Given the description of an element on the screen output the (x, y) to click on. 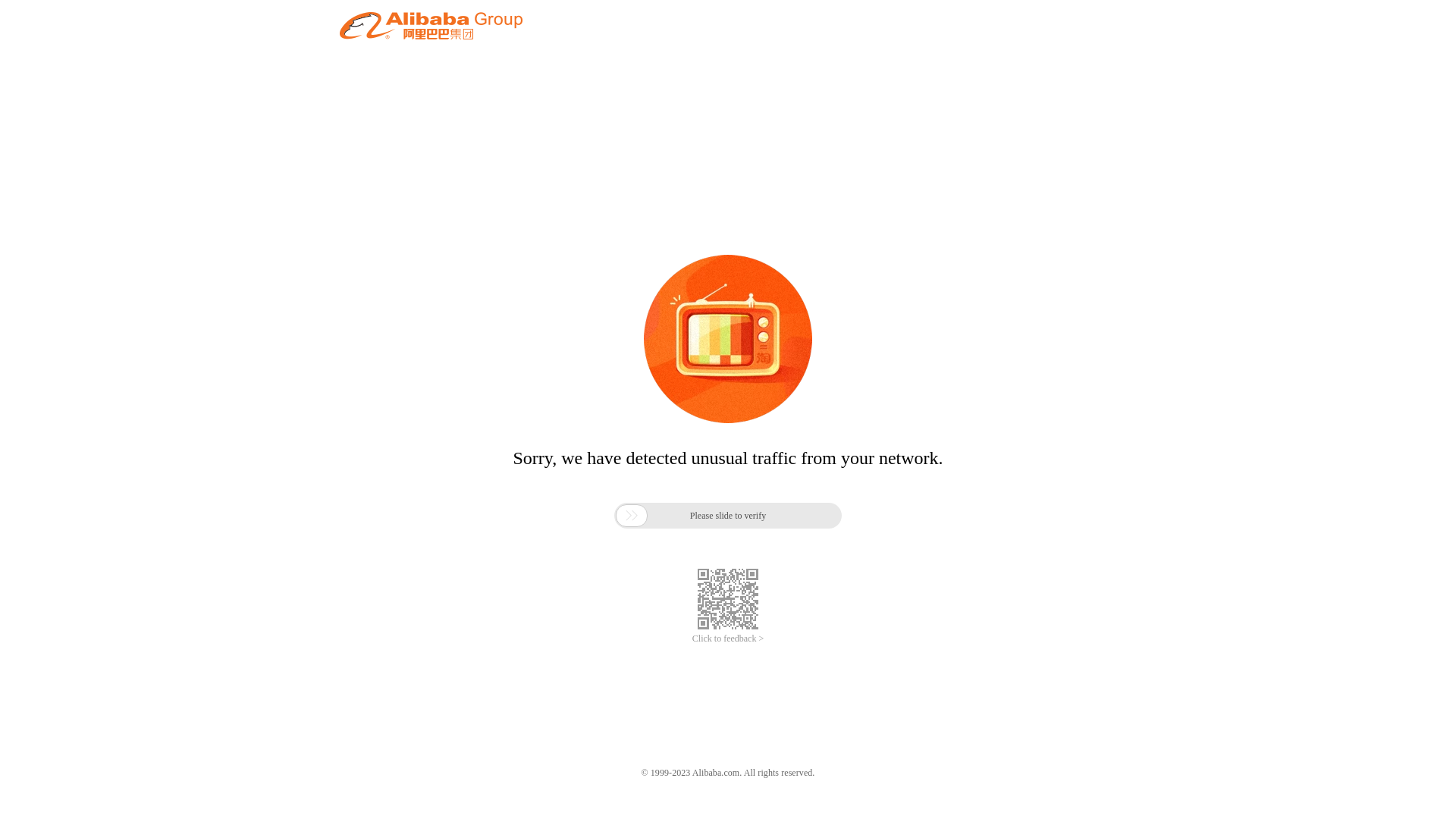
Click to feedback > Element type: text (727, 638)
